Given the description of an element on the screen output the (x, y) to click on. 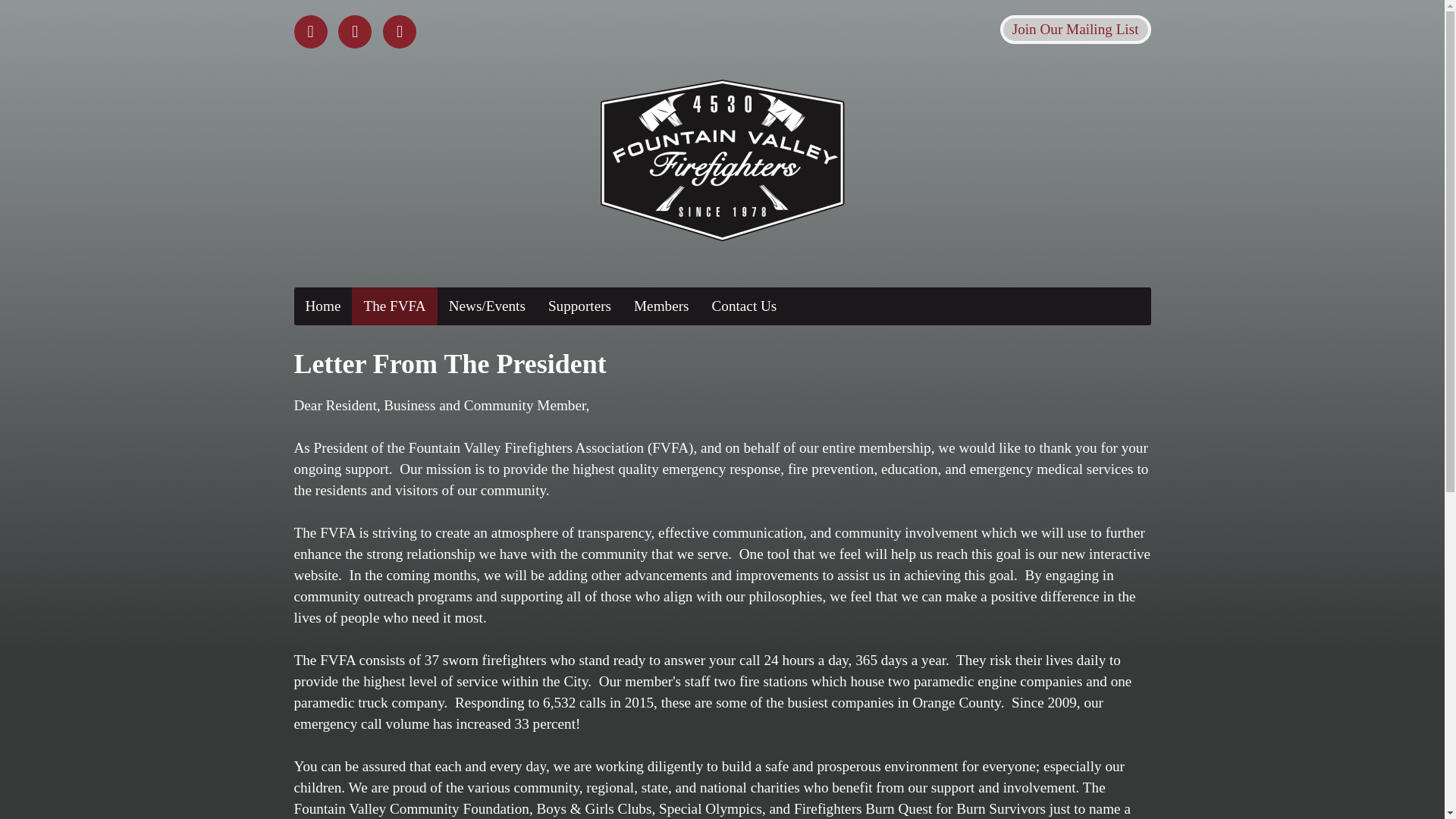
Members (661, 306)
Home (323, 306)
Supporters (580, 306)
The FVFA (394, 306)
Contact Us (744, 306)
Join Our Mailing List (1075, 29)
